Given the description of an element on the screen output the (x, y) to click on. 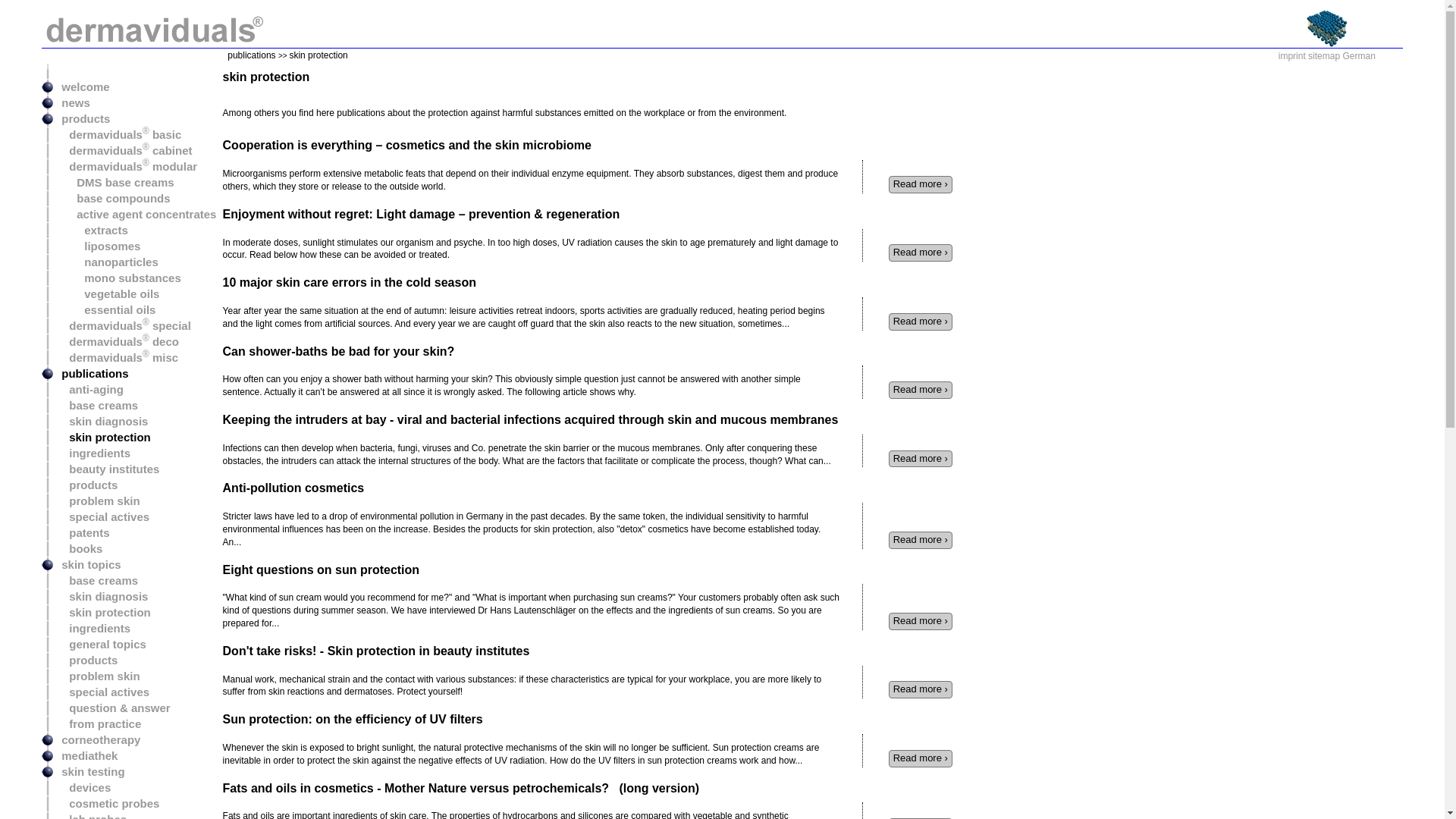
base compounds (111, 197)
essential oils (104, 309)
skin diagnosis (100, 420)
base compounds (111, 197)
extracts (90, 229)
problem skin (96, 500)
vegetable oils (105, 293)
news (71, 102)
skin protection (102, 436)
essential oils (104, 309)
products (85, 484)
anti-aging (88, 389)
vegetable oils (105, 293)
mono substances (116, 277)
DMS (1327, 28)
